Given the description of an element on the screen output the (x, y) to click on. 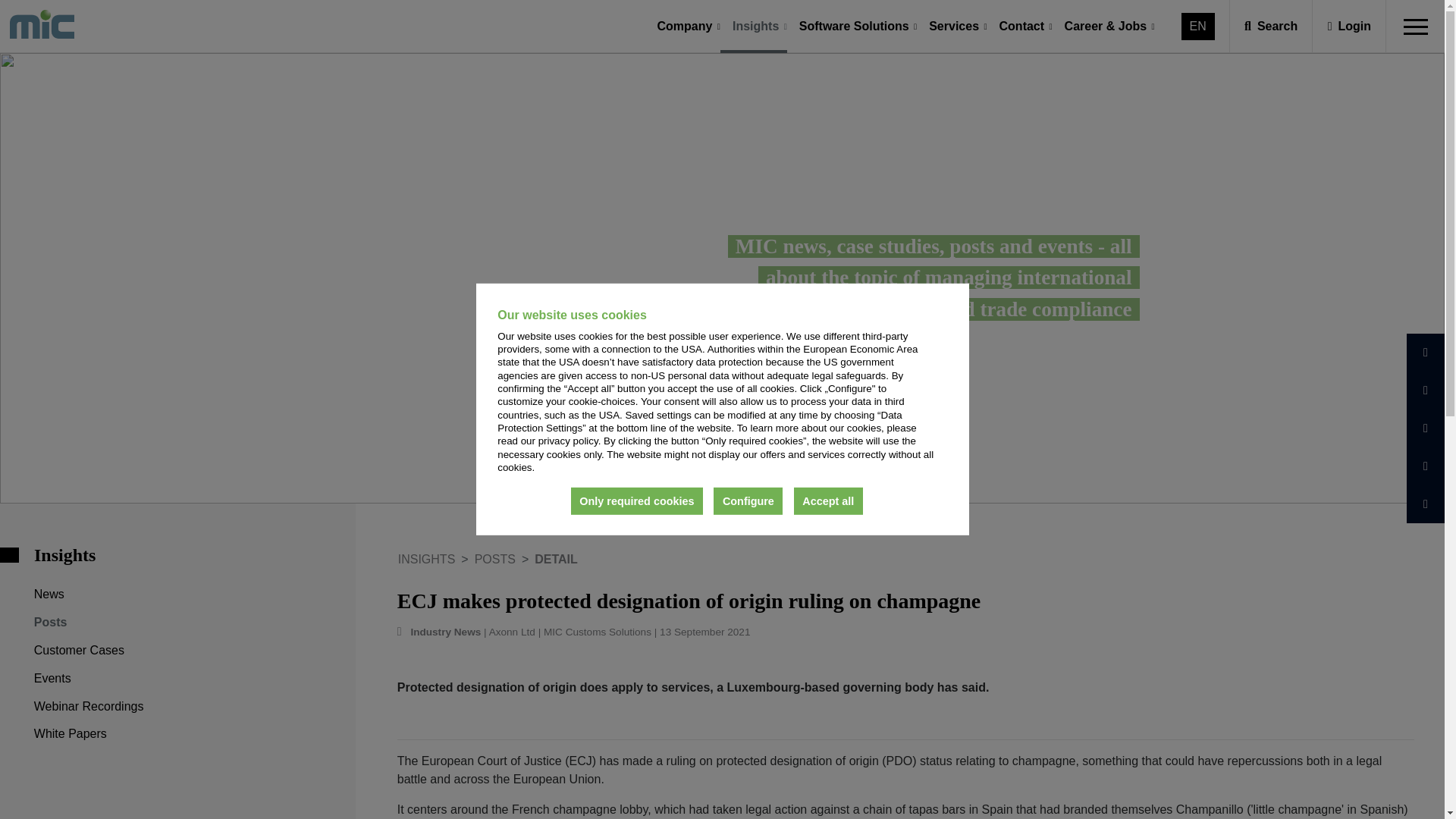
Only required cookies (706, 501)
Services (954, 26)
Accept all (754, 500)
Company (685, 26)
EN (1198, 26)
Software Solutions (854, 26)
Login (1349, 26)
Insights (755, 26)
Configure (815, 501)
Contact (1022, 26)
